Given the description of an element on the screen output the (x, y) to click on. 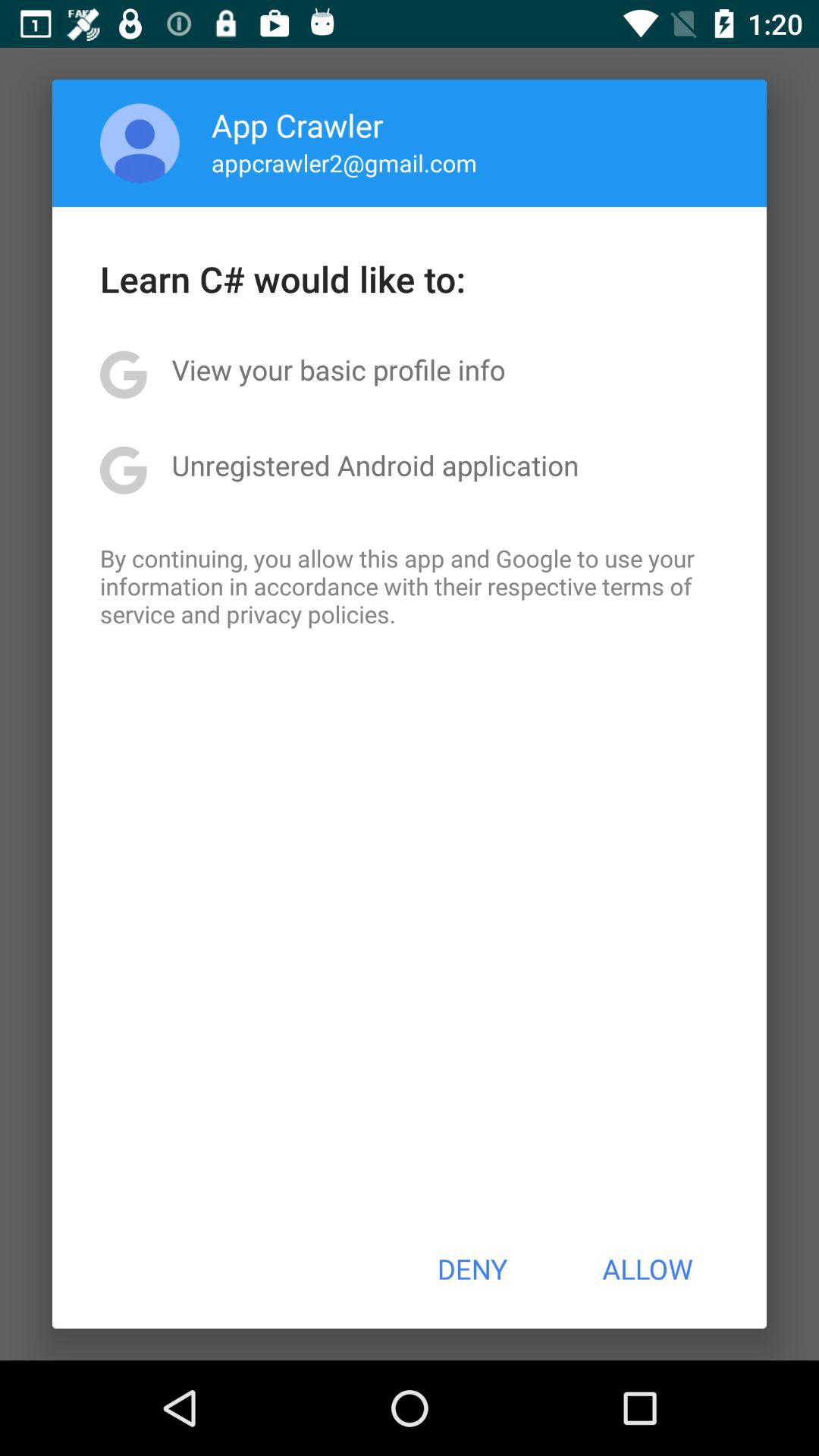
turn off app above learn c would (139, 143)
